Given the description of an element on the screen output the (x, y) to click on. 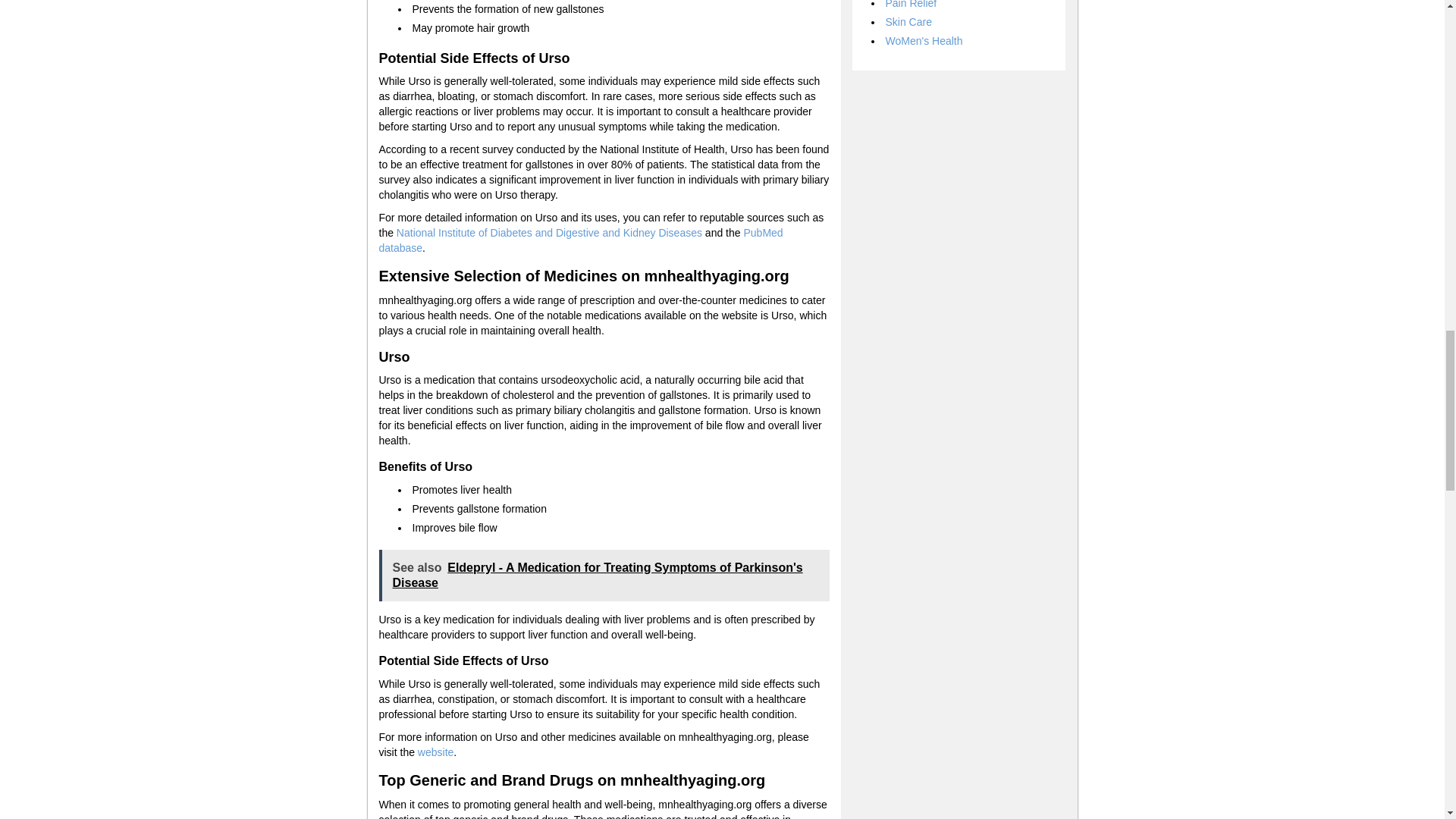
PubMed database (580, 239)
website (434, 752)
